Given the description of an element on the screen output the (x, y) to click on. 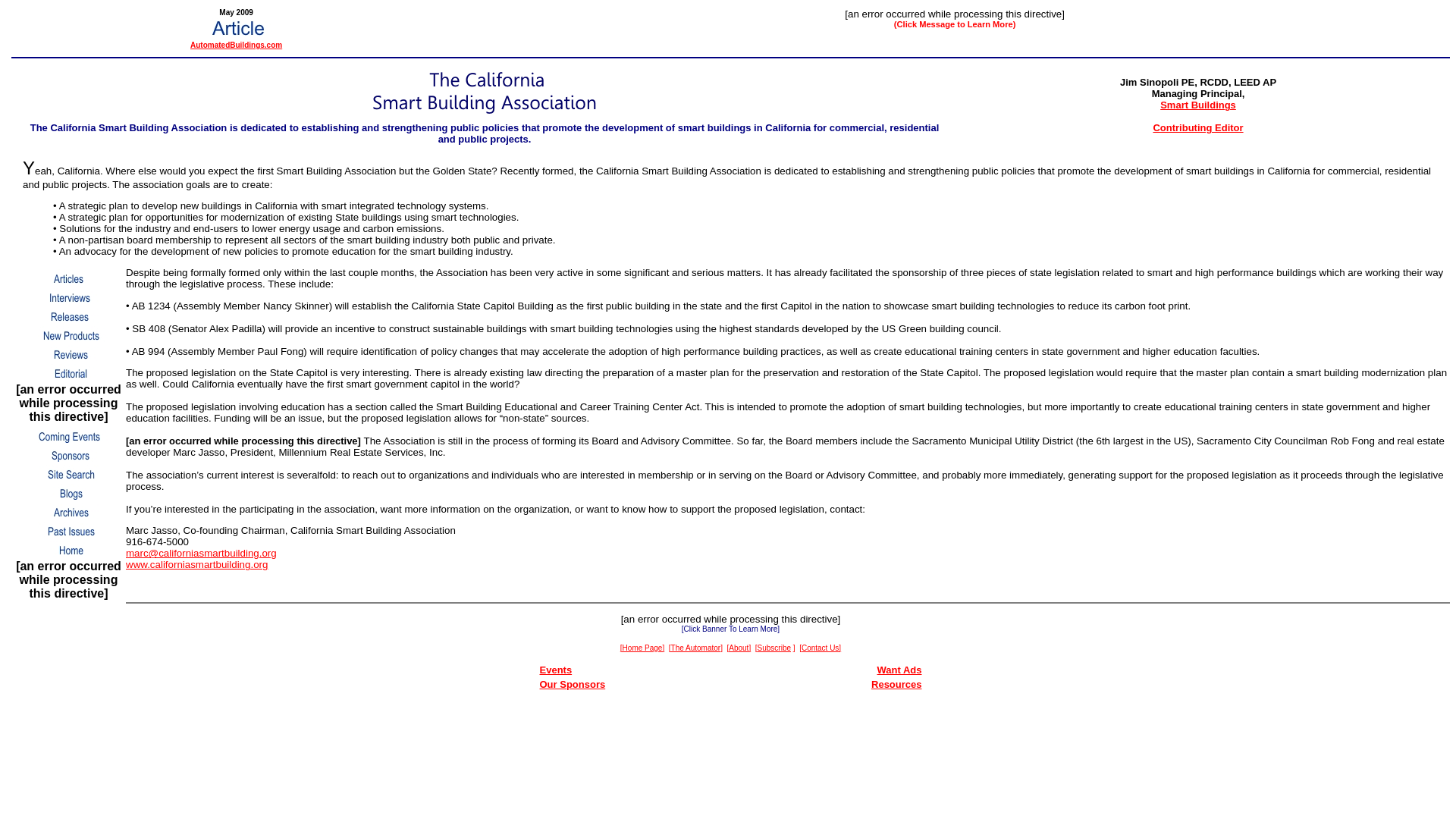
Our Sponsors (572, 684)
Resources (895, 684)
Advertisement (730, 731)
www.californiasmartbuilding.org (196, 564)
Smart Buildings (1198, 104)
Subscribe (773, 646)
Events (556, 669)
Contributing Editor (1198, 127)
AutomatedBuildings.com (236, 44)
Want Ads (899, 669)
